Given the description of an element on the screen output the (x, y) to click on. 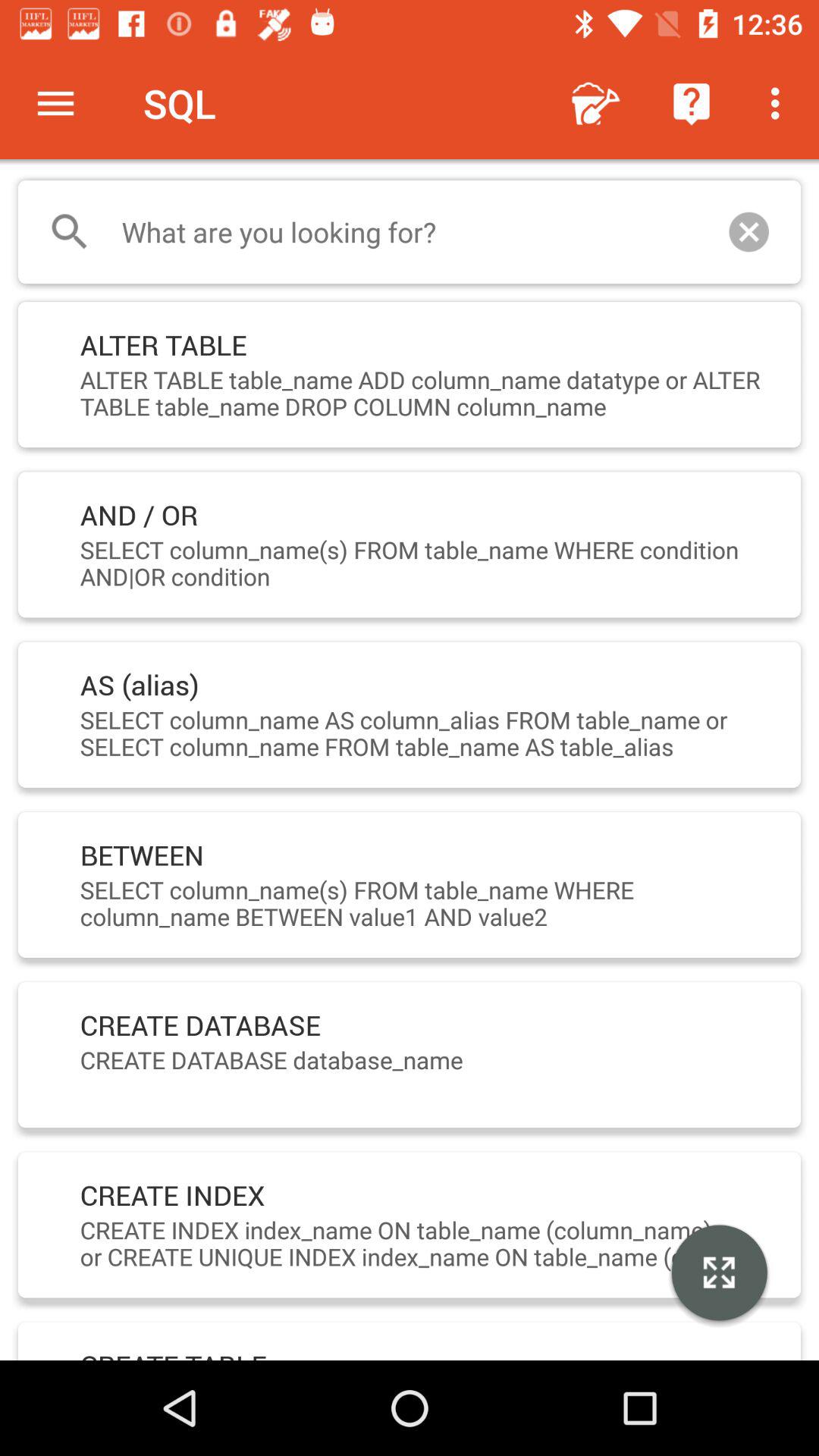
tap the app next to sql icon (55, 103)
